Given the description of an element on the screen output the (x, y) to click on. 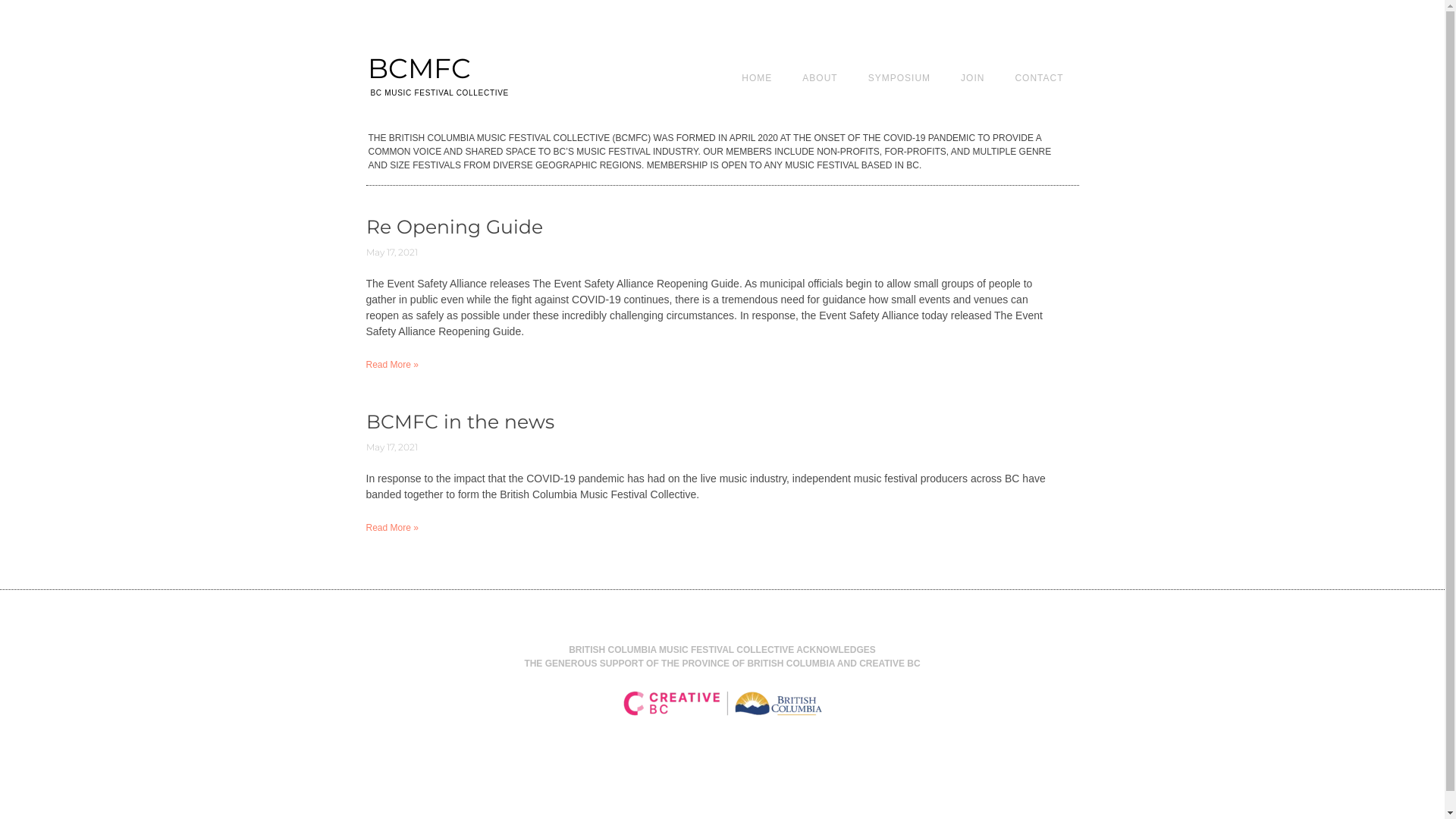
ABOUT Element type: text (819, 77)
BCMFC in the news Element type: text (459, 421)
CONTACT Element type: text (1038, 77)
BCMFC Element type: text (418, 67)
HOME Element type: text (756, 77)
SYMPOSIUM Element type: text (899, 77)
Re Opening Guide Element type: text (453, 226)
JOIN Element type: text (972, 77)
